Given the description of an element on the screen output the (x, y) to click on. 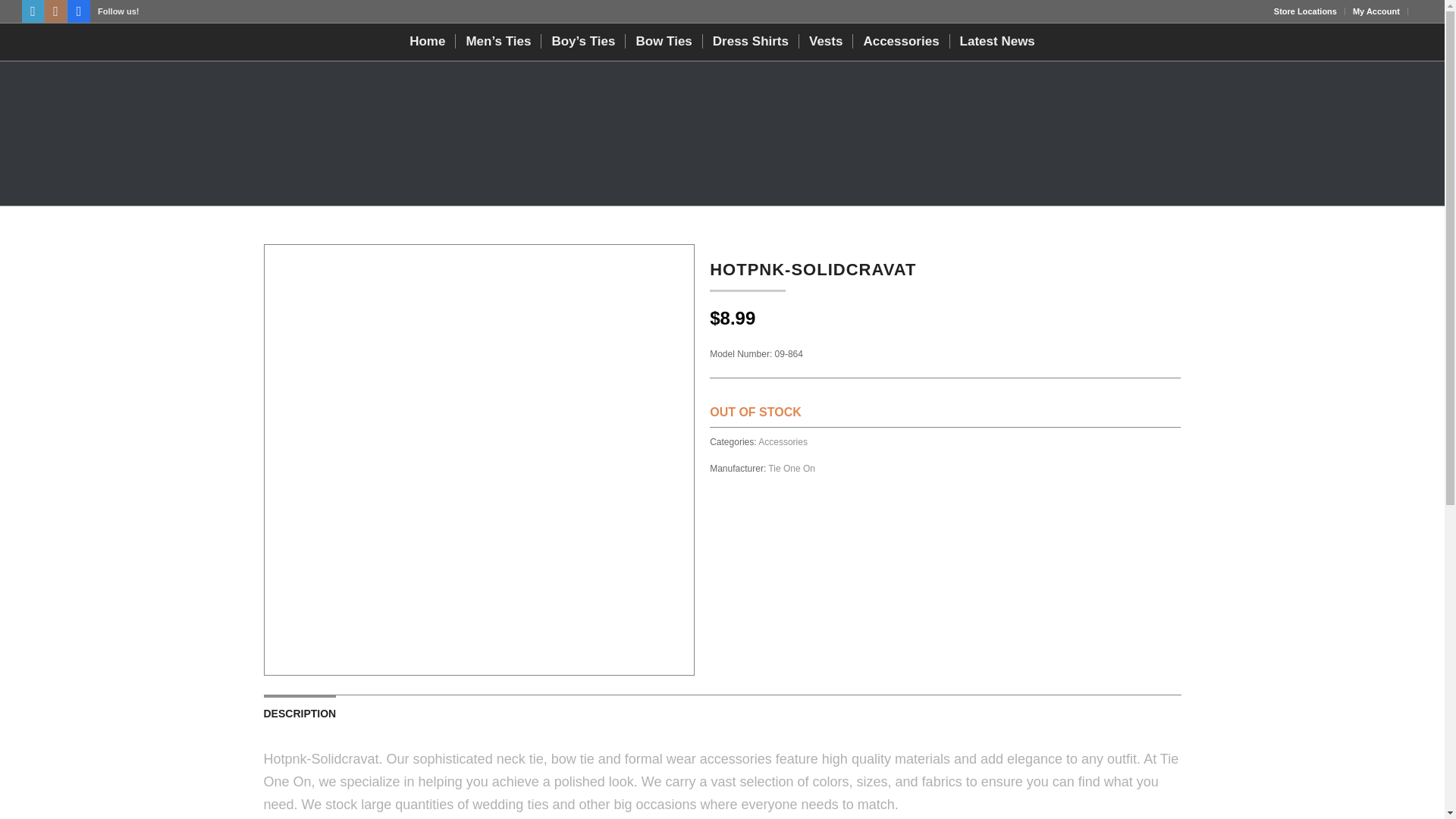
Instagram (55, 11)
Store Locations (1305, 11)
My Account (1375, 11)
Bow Ties (662, 41)
Facebook (78, 11)
LinkedIn (32, 11)
Home (426, 41)
